Given the description of an element on the screen output the (x, y) to click on. 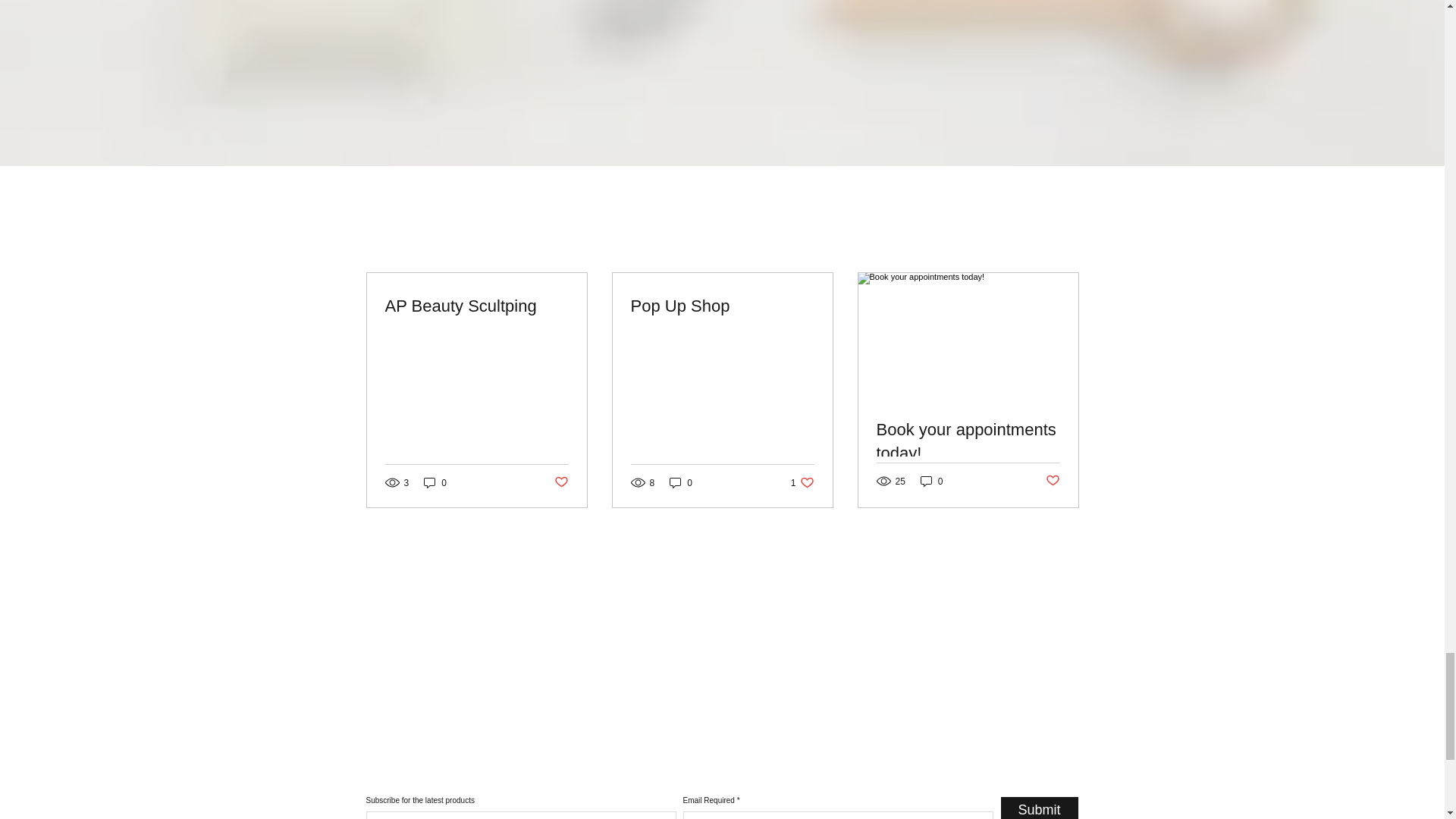
Pop Up Shop (721, 306)
Post not marked as liked (1052, 480)
0 (435, 482)
Submit (1039, 807)
Book your appointments today! (967, 442)
0 (681, 482)
0 (931, 481)
Post not marked as liked (560, 482)
AP Beauty Scultping (801, 482)
